Given the description of an element on the screen output the (x, y) to click on. 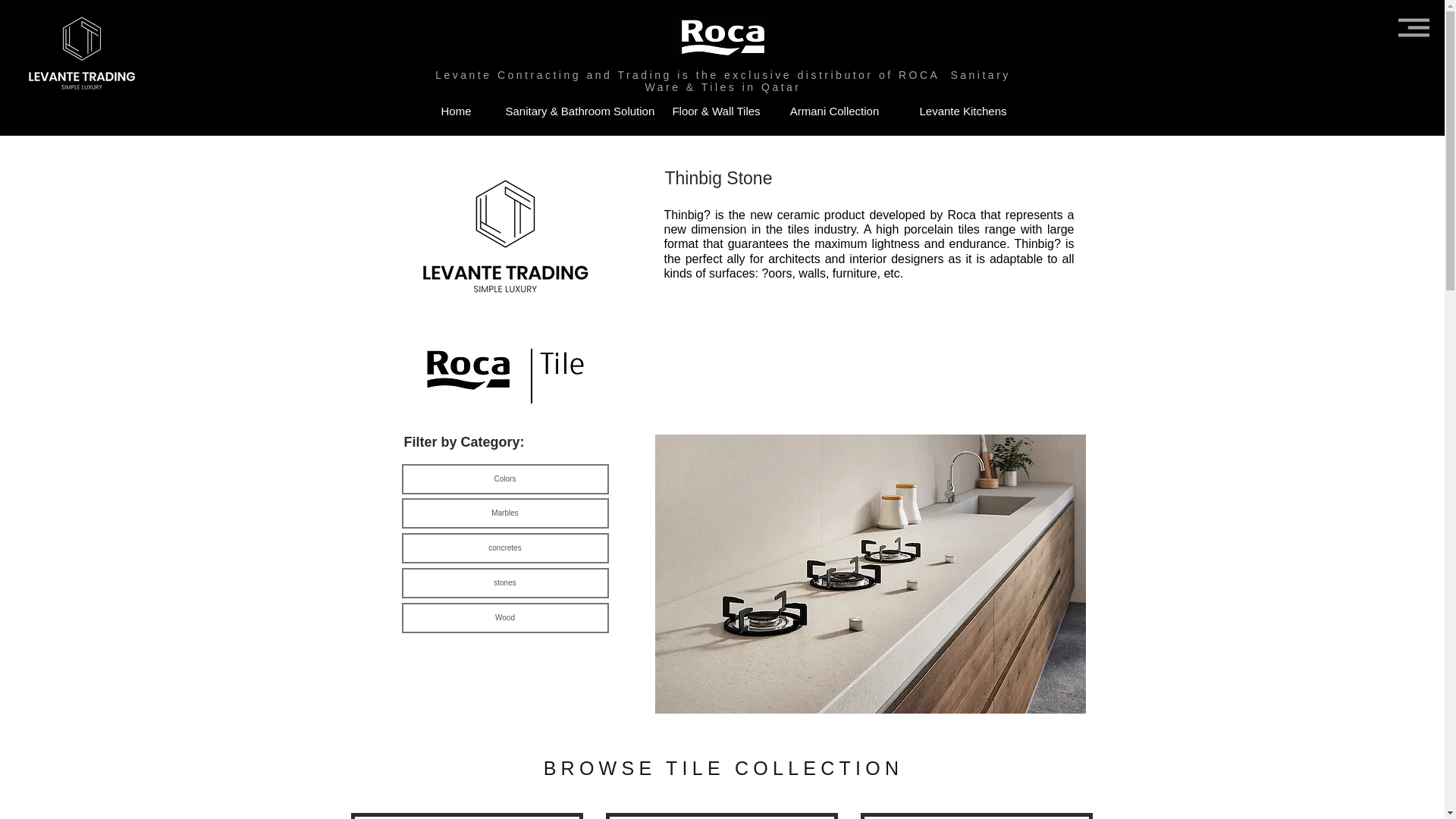
stones (504, 583)
Armani Collection (834, 110)
Home (455, 110)
Colors (504, 479)
Marbles (504, 512)
concretes (504, 548)
Levante Kitchens (963, 110)
